Given the description of an element on the screen output the (x, y) to click on. 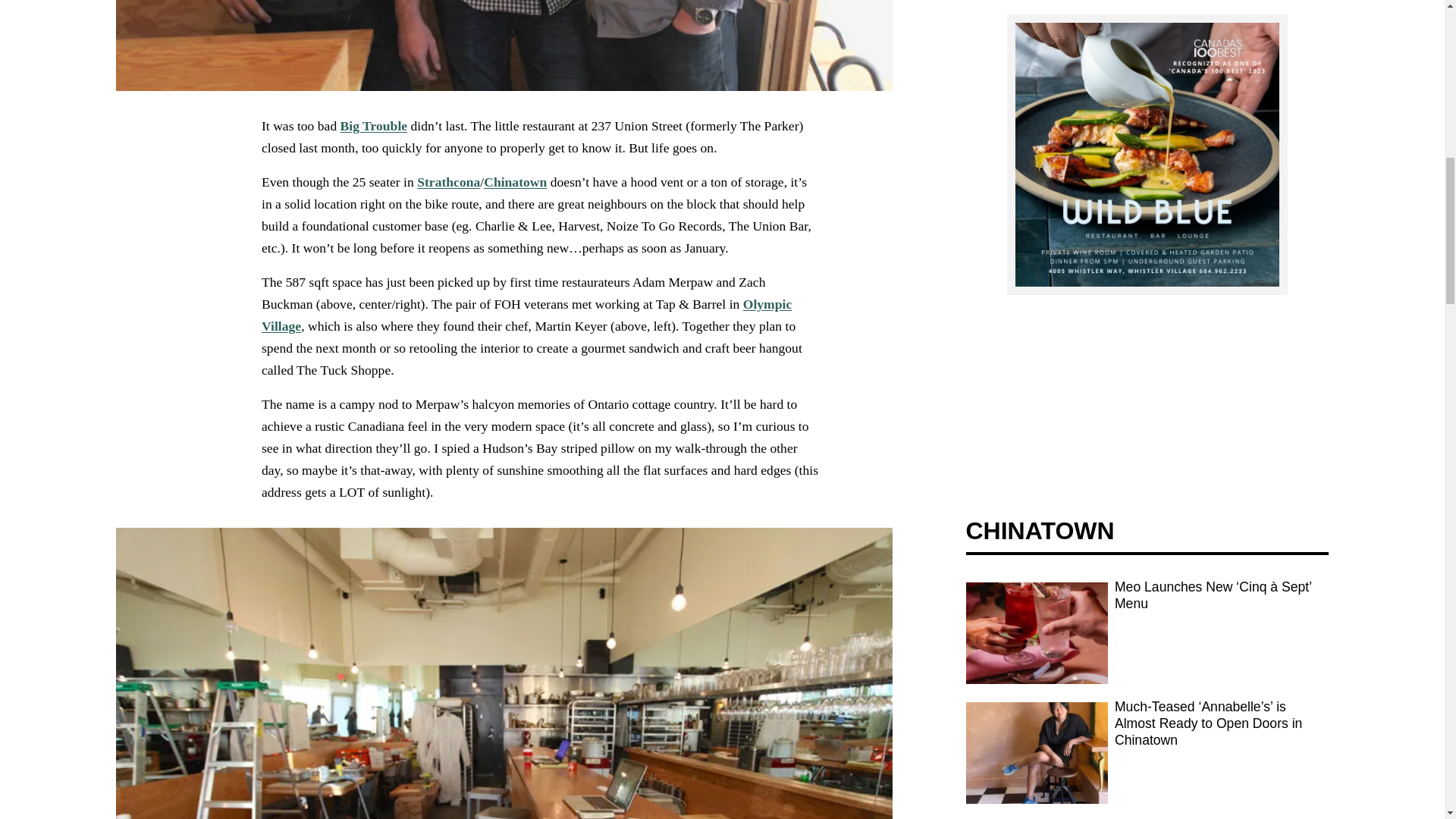
Strathcona (448, 181)
Big Trouble (372, 125)
Olympic Village (525, 314)
Chinatown (515, 181)
